Given the description of an element on the screen output the (x, y) to click on. 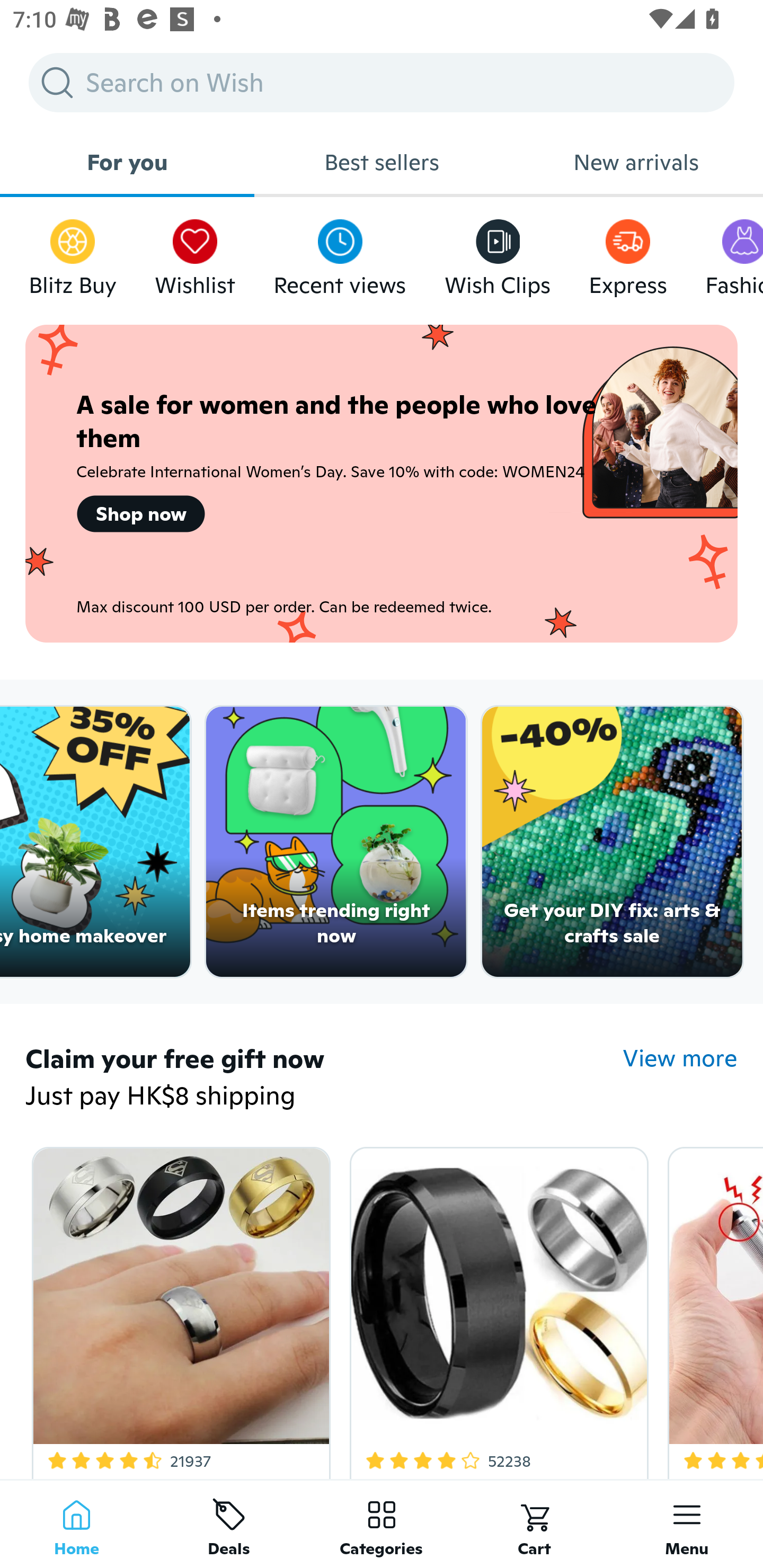
Search on Wish (381, 82)
For you (127, 161)
Best sellers (381, 161)
New arrivals (635, 161)
Blitz Buy (72, 252)
Wishlist (194, 252)
Recent views (339, 252)
Wish Clips (497, 252)
Express (627, 252)
Fashion (734, 252)
Messy home makeover (94, 841)
Items trending right now (336, 841)
Get your DIY fix: arts & crafts sale (612, 841)
Claim your free gift now
Just pay HK$8 shipping (323, 1078)
View more (679, 1058)
4.3 Star Rating 21937 Free (177, 1308)
4.2 Star Rating 52238 Free (495, 1308)
Home Deals Categories Cart Menu (381, 1523)
Home (76, 1523)
Deals (228, 1523)
Categories (381, 1523)
Cart (533, 1523)
Menu (686, 1523)
